Given the description of an element on the screen output the (x, y) to click on. 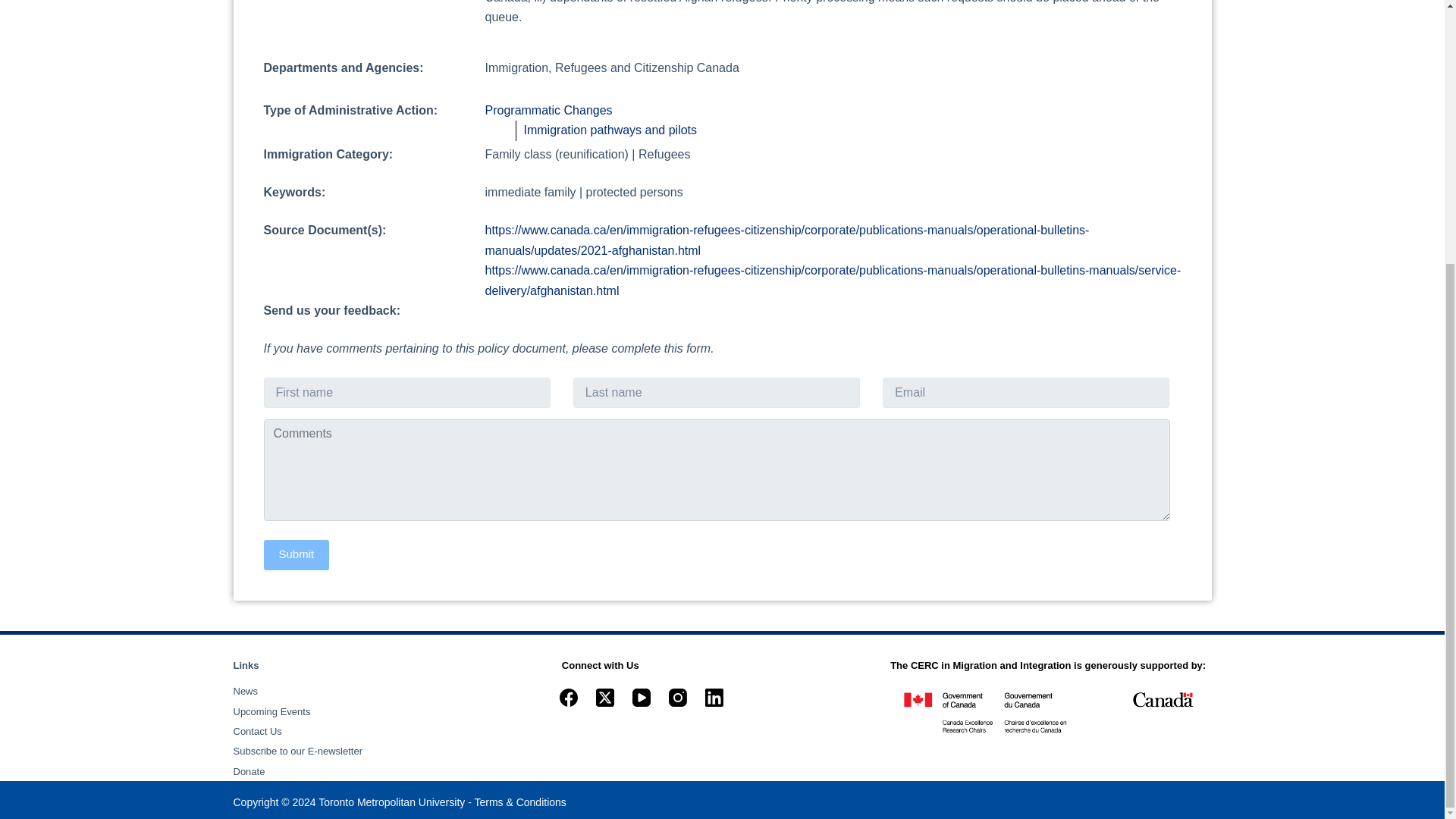
Donate (248, 771)
Contact Us (257, 731)
Submit (296, 554)
Programmatic Changes (548, 110)
News (245, 690)
Subscribe to our E-newsletter (297, 750)
Submit (296, 554)
Immigration pathways and pilots (609, 129)
Upcoming Events (271, 711)
